Given the description of an element on the screen output the (x, y) to click on. 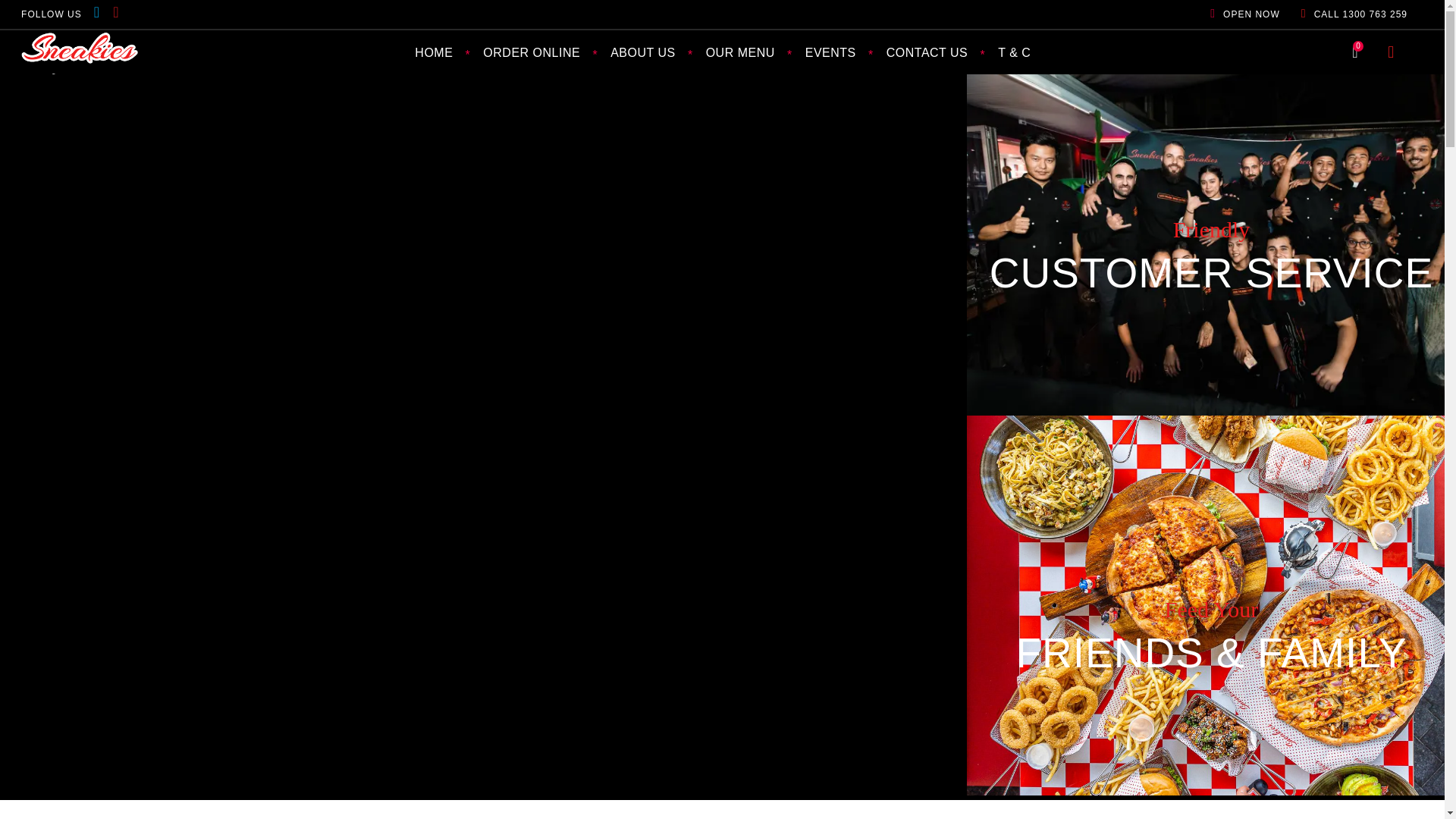
CONTACT US (927, 52)
EVENTS (830, 52)
HOME (432, 52)
ORDER ONLINE (531, 52)
CALL 1300 763 259 (1363, 14)
OUR MENU (740, 52)
OPEN NOW (1253, 14)
ABOUT US (642, 52)
